Given the description of an element on the screen output the (x, y) to click on. 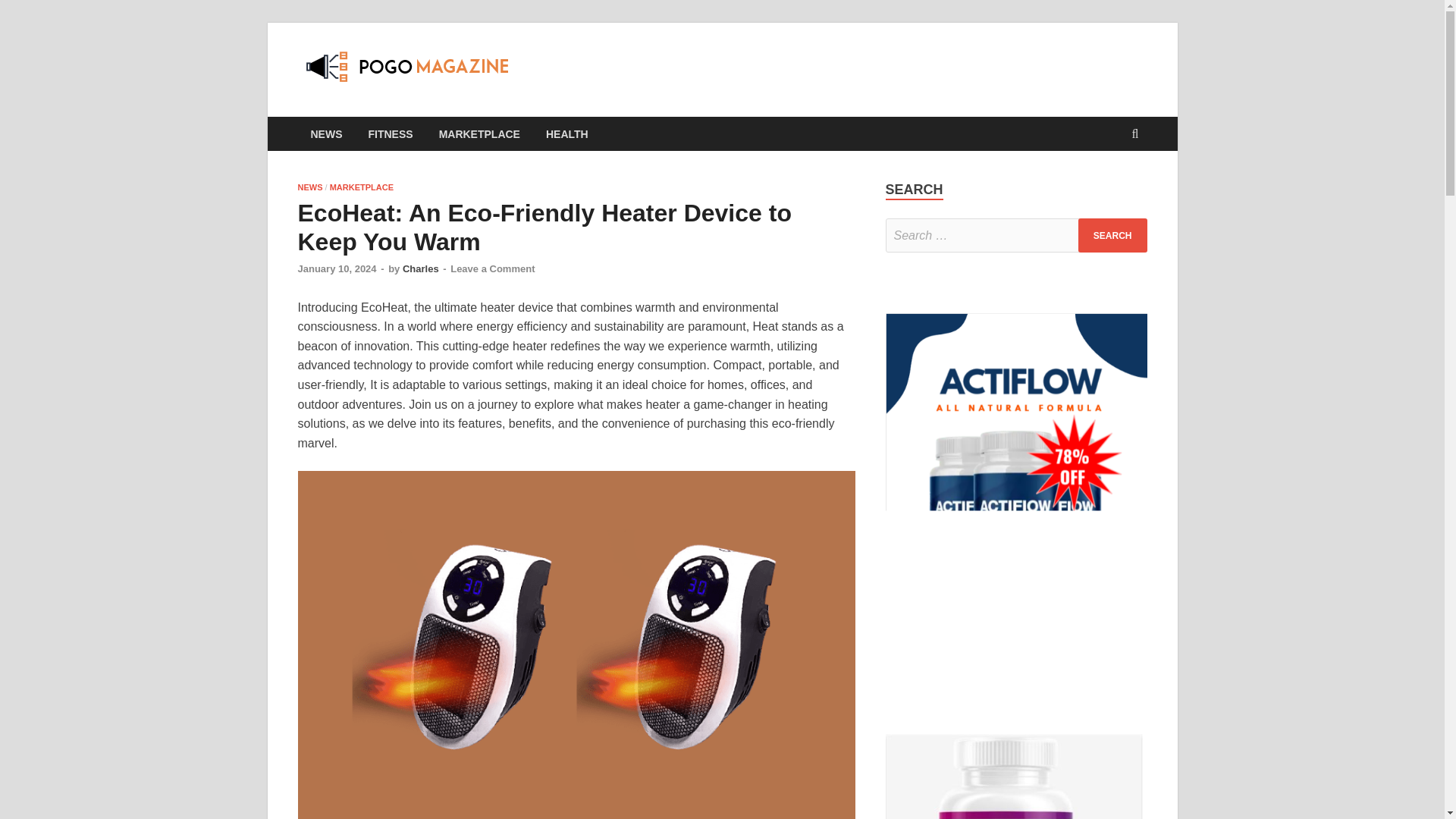
MARKETPLACE (361, 186)
Search (1112, 235)
NEWS (309, 186)
MARKETPLACE (479, 133)
Charles (421, 268)
NEWS (326, 133)
Pogo Magazine (625, 74)
Search (1112, 235)
FITNESS (390, 133)
Search (1112, 235)
January 10, 2024 (336, 268)
HEALTH (566, 133)
Leave a Comment (491, 268)
